Given the description of an element on the screen output the (x, y) to click on. 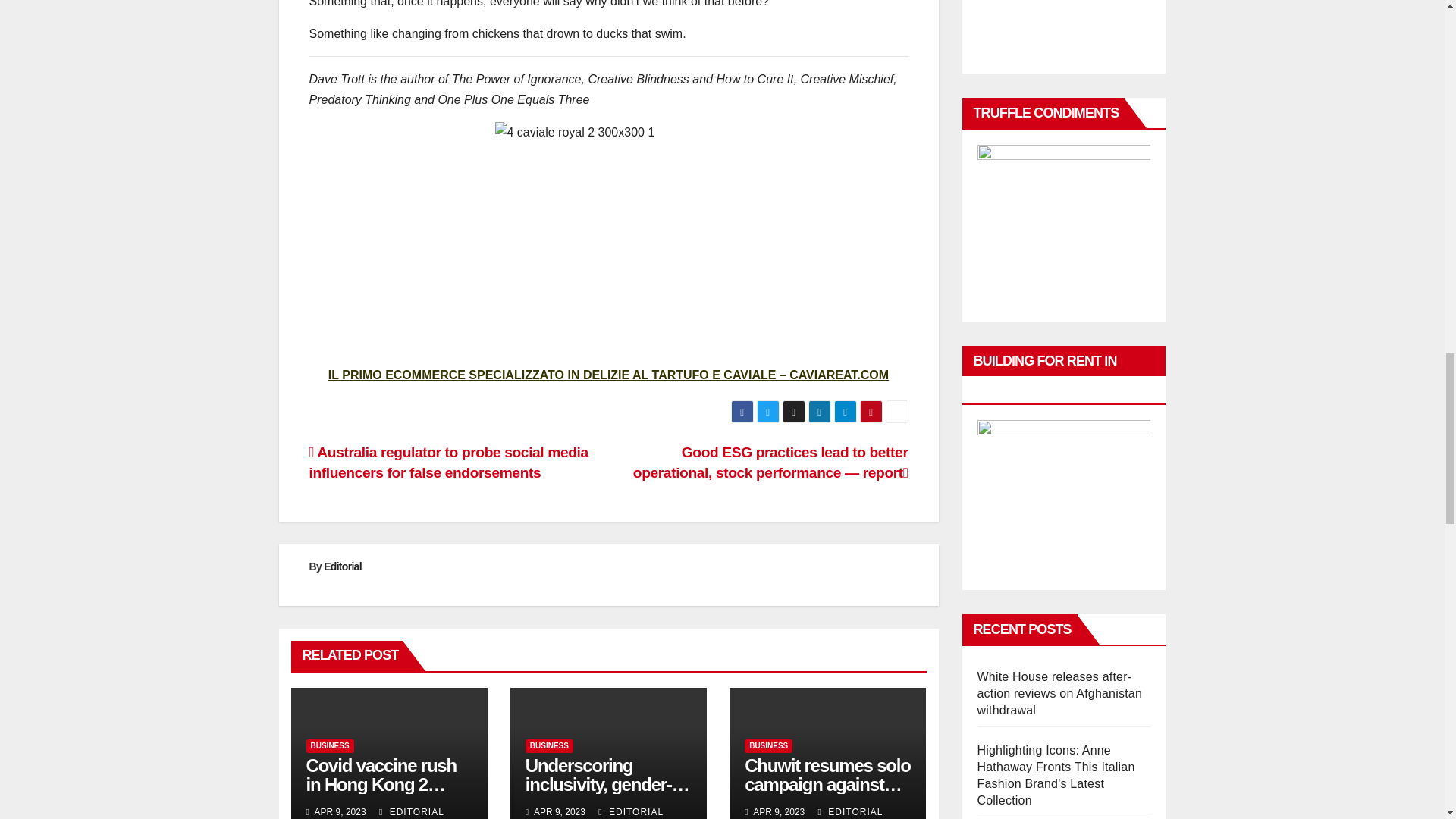
EDITORIAL (630, 811)
BUSINESS (329, 745)
Editorial (342, 566)
BUSINESS (549, 745)
EDITORIAL (411, 811)
EDITORIAL (850, 811)
BUSINESS (768, 745)
